Given the description of an element on the screen output the (x, y) to click on. 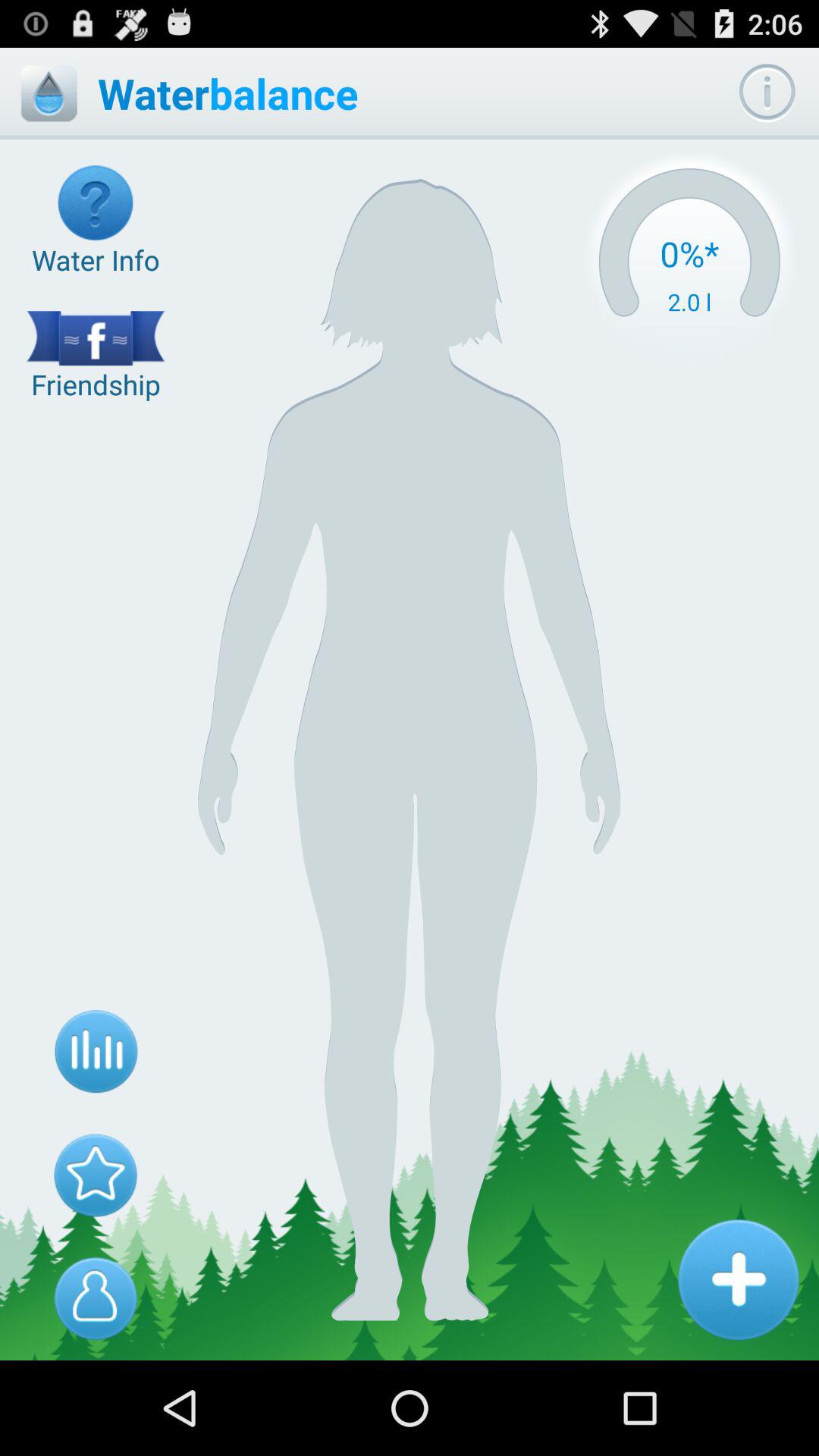
tap icon to the left of the waterbalance item (48, 93)
